Given the description of an element on the screen output the (x, y) to click on. 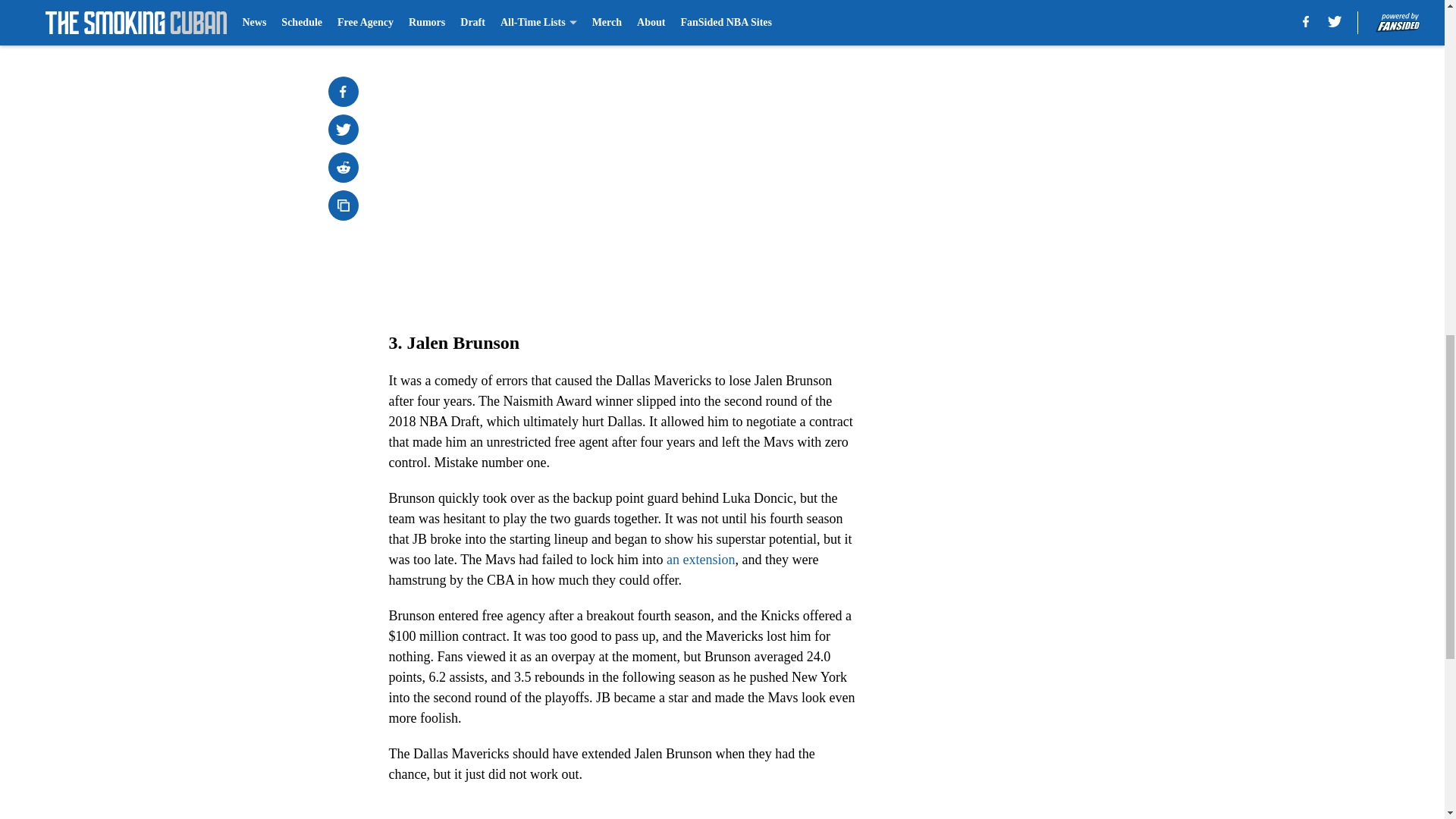
Next (813, 20)
an extension (700, 559)
Prev (433, 20)
